Given the description of an element on the screen output the (x, y) to click on. 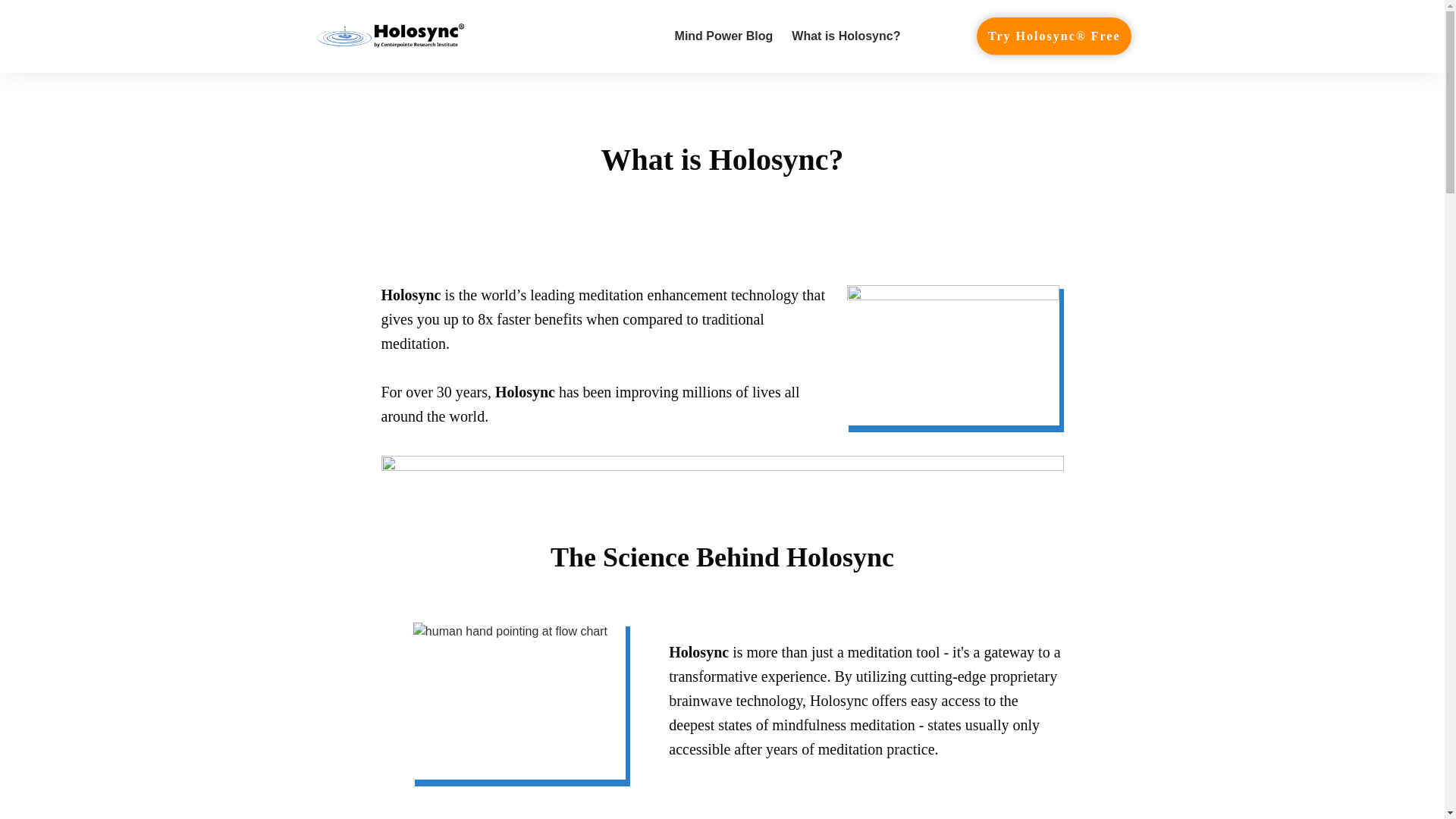
split (721, 479)
Organization (519, 700)
Mind Power Blog (724, 36)
What is Holosync? (845, 36)
